Given the description of an element on the screen output the (x, y) to click on. 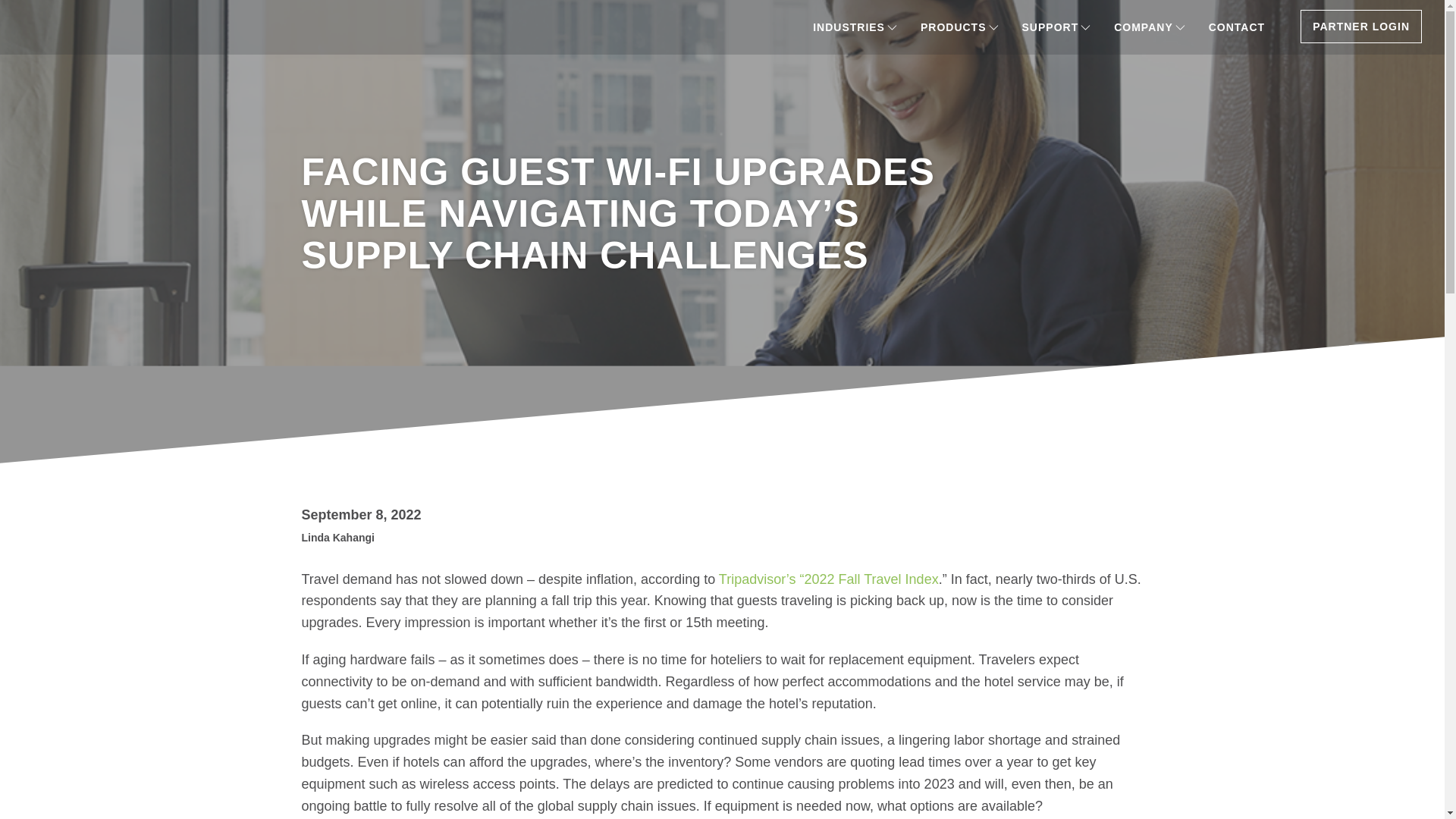
PRODUCTS (959, 26)
SUPPORT (1057, 26)
COMPANY (1149, 26)
INDUSTRIES (855, 26)
